Given the description of an element on the screen output the (x, y) to click on. 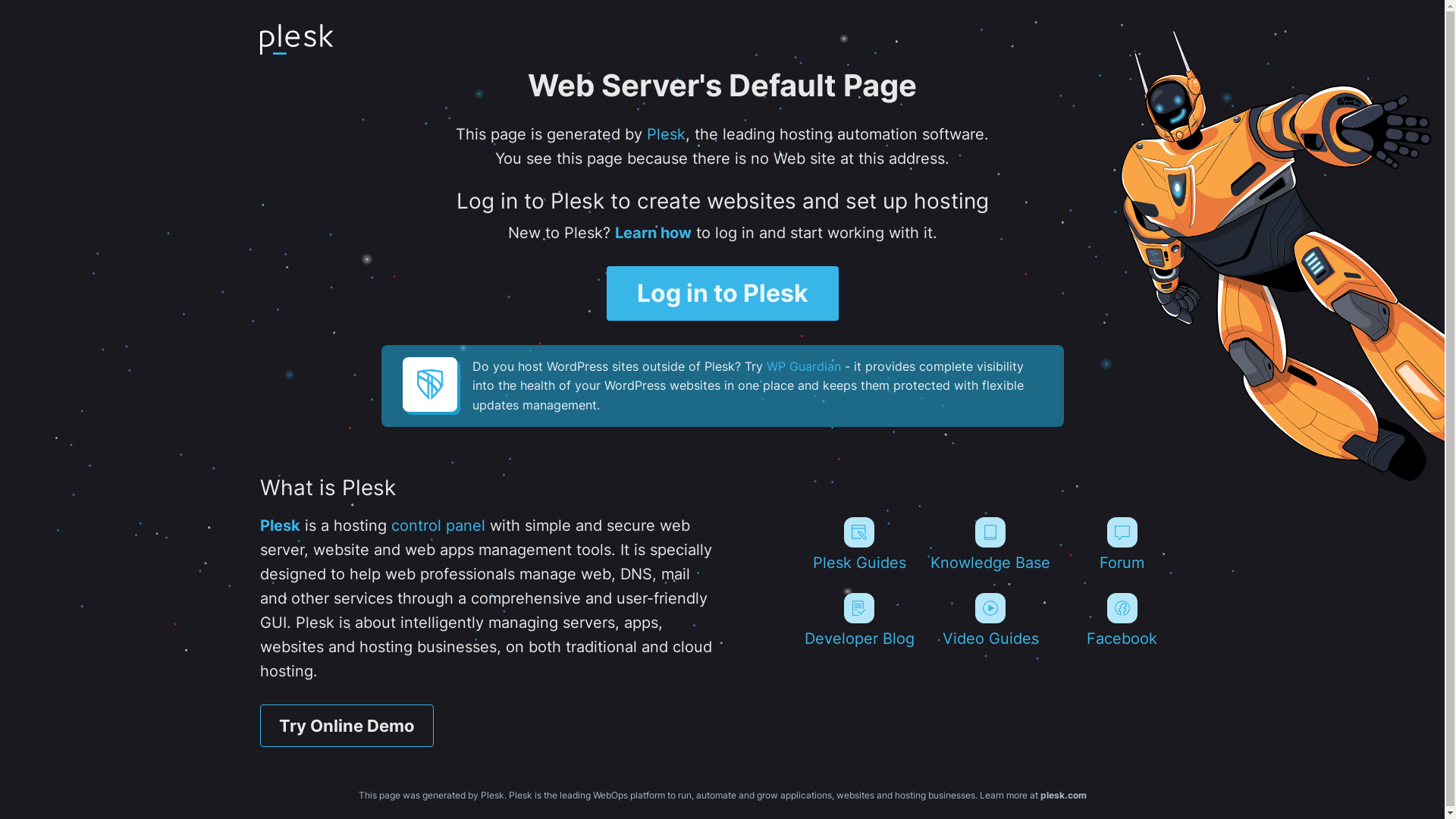
Plesk Guides Element type: text (858, 544)
Forum Element type: text (1121, 544)
Try Online Demo Element type: text (346, 725)
Learn how Element type: text (652, 232)
Knowledge Base Element type: text (990, 544)
Plesk Element type: text (665, 134)
Plesk Element type: text (279, 525)
Developer Blog Element type: text (858, 620)
Log in to Plesk Element type: text (722, 293)
WP Guardian Element type: text (802, 365)
Video Guides Element type: text (990, 620)
Facebook Element type: text (1121, 620)
control panel Element type: text (438, 525)
plesk.com Element type: text (1063, 794)
